Given the description of an element on the screen output the (x, y) to click on. 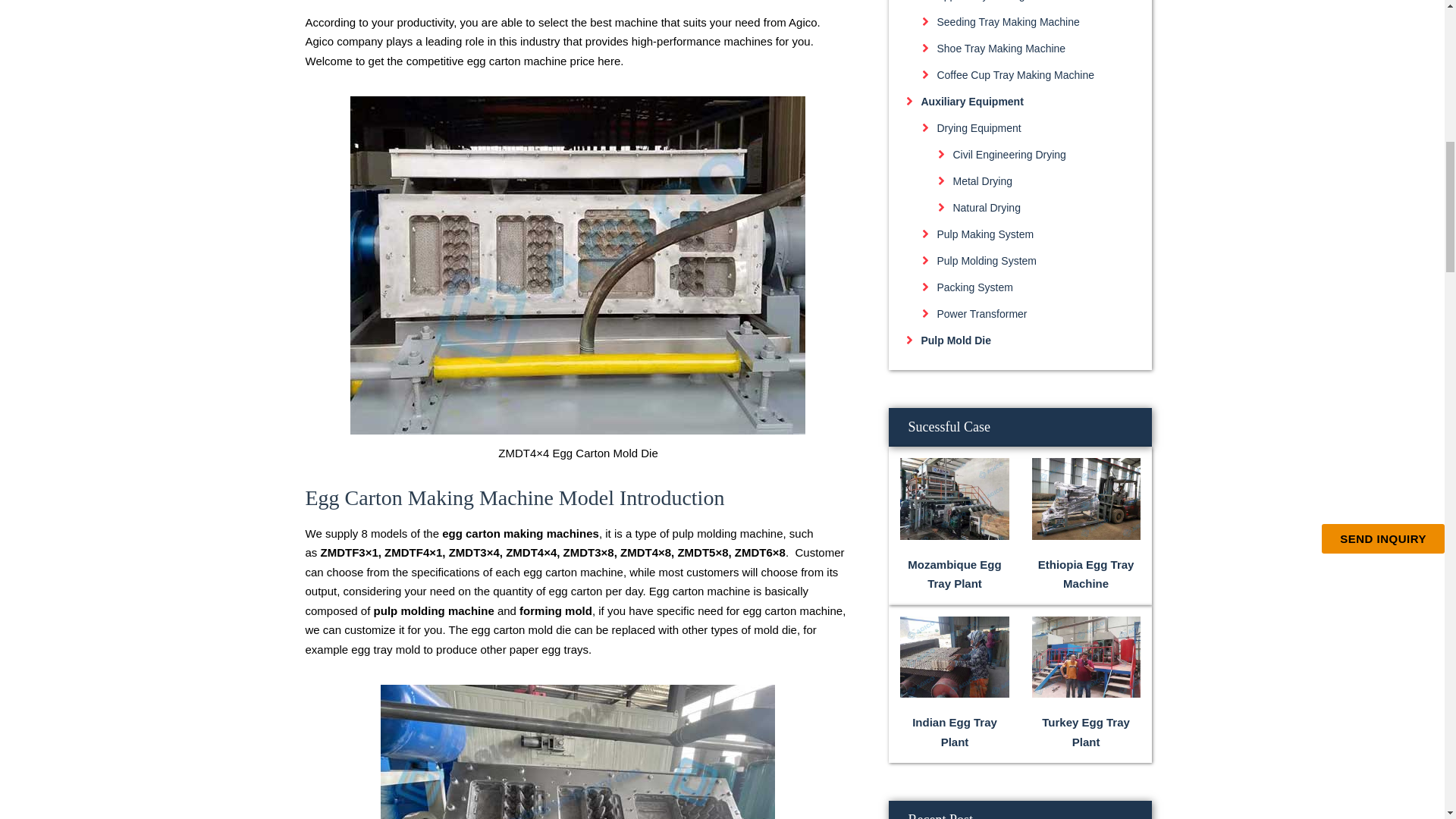
5-8-egg-tray-making-machine-test-run-in-Mozambique (954, 497)
